Given the description of an element on the screen output the (x, y) to click on. 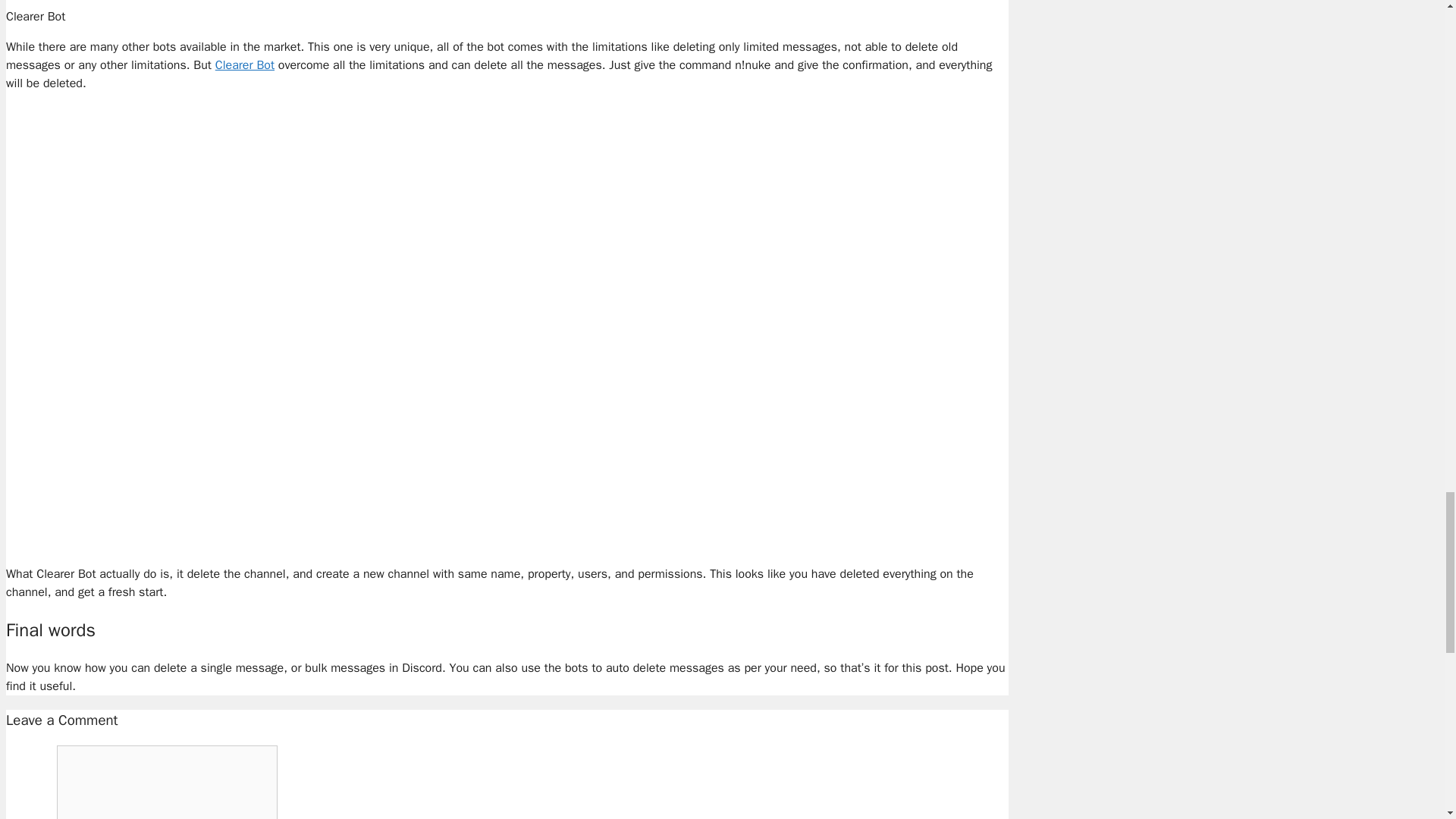
Clearer Bot (245, 64)
